Given the description of an element on the screen output the (x, y) to click on. 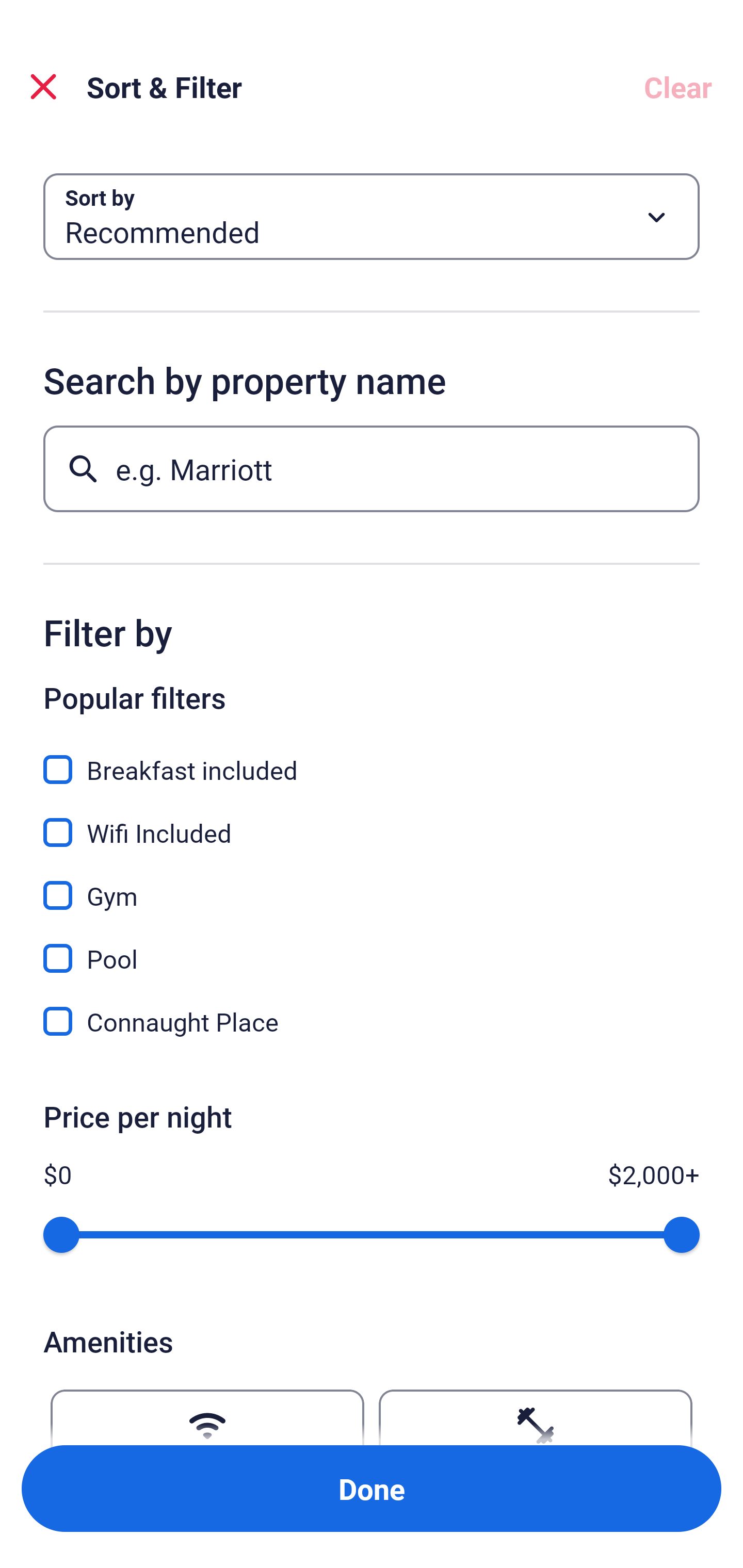
Close Sort and Filter (43, 86)
Clear (677, 86)
Sort by Button Recommended (371, 217)
e.g. Marriott Button (371, 468)
Breakfast included, Breakfast included (371, 757)
Wifi Included, Wifi Included (371, 821)
Gym, Gym (371, 883)
Pool, Pool (371, 946)
Connaught Place, Connaught Place (371, 1021)
Apply and close Sort and Filter Done (371, 1488)
